Given the description of an element on the screen output the (x, y) to click on. 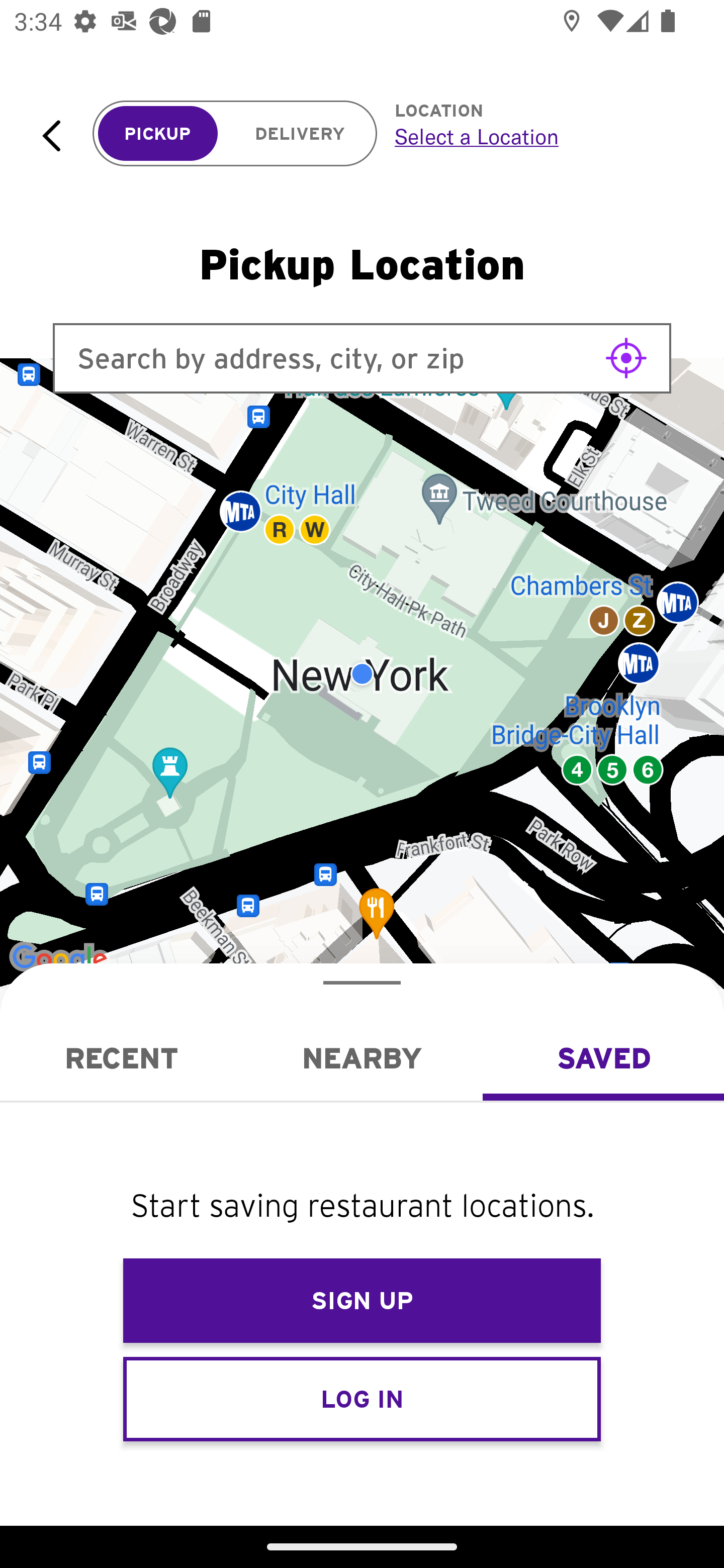
PICKUP (157, 133)
DELIVERY (299, 133)
Select a Location (536, 136)
Search by address, city, or zip (361, 358)
Google Map (362, 674)
Recent RECENT (120, 1058)
Nearby NEARBY (361, 1058)
SIGN UP (361, 1300)
LOG IN (361, 1398)
